Given the description of an element on the screen output the (x, y) to click on. 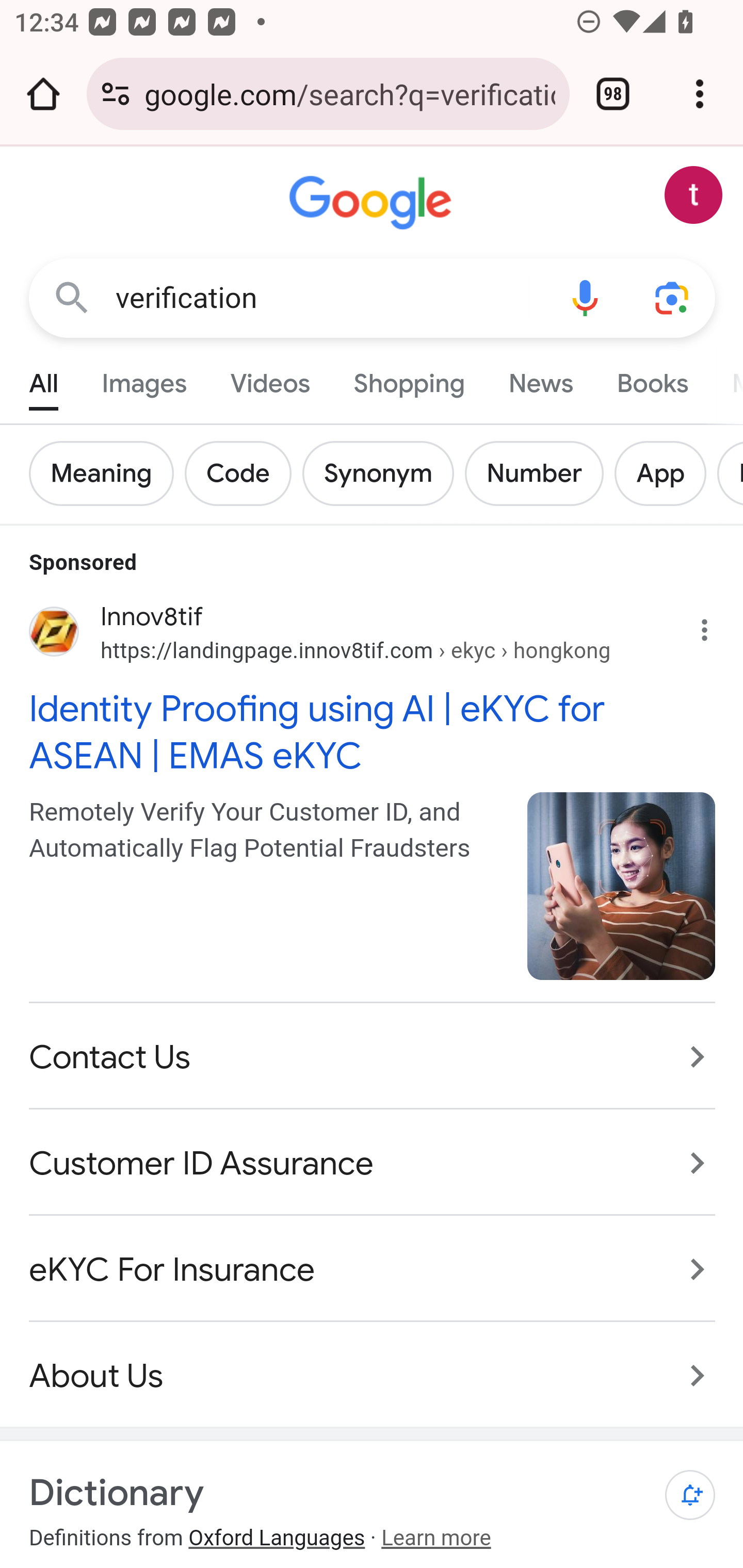
Open the home page (43, 93)
Connection is secure (115, 93)
Switch or close tabs (612, 93)
Customize and control Google Chrome (699, 93)
Google (372, 203)
Google Search (71, 296)
Search using your camera or photos (672, 296)
verification (328, 297)
Images (144, 378)
Videos (270, 378)
Shopping (408, 378)
News (540, 378)
Books (652, 378)
Add Meaning Meaning (106, 473)
Add Code Code (243, 473)
Add Synonym Synonym (383, 473)
Add Number Number (539, 473)
Add App App (665, 473)
Why this ad? (714, 625)
Image from innov8tif.com (621, 885)
Contact Us (372, 1056)
Customer ID Assurance (372, 1163)
eKYC For Insurance (372, 1269)
About Us (372, 1365)
Get notifications about Word of the day (690, 1495)
Oxford Languages (276, 1538)
Learn more (435, 1538)
